Given the description of an element on the screen output the (x, y) to click on. 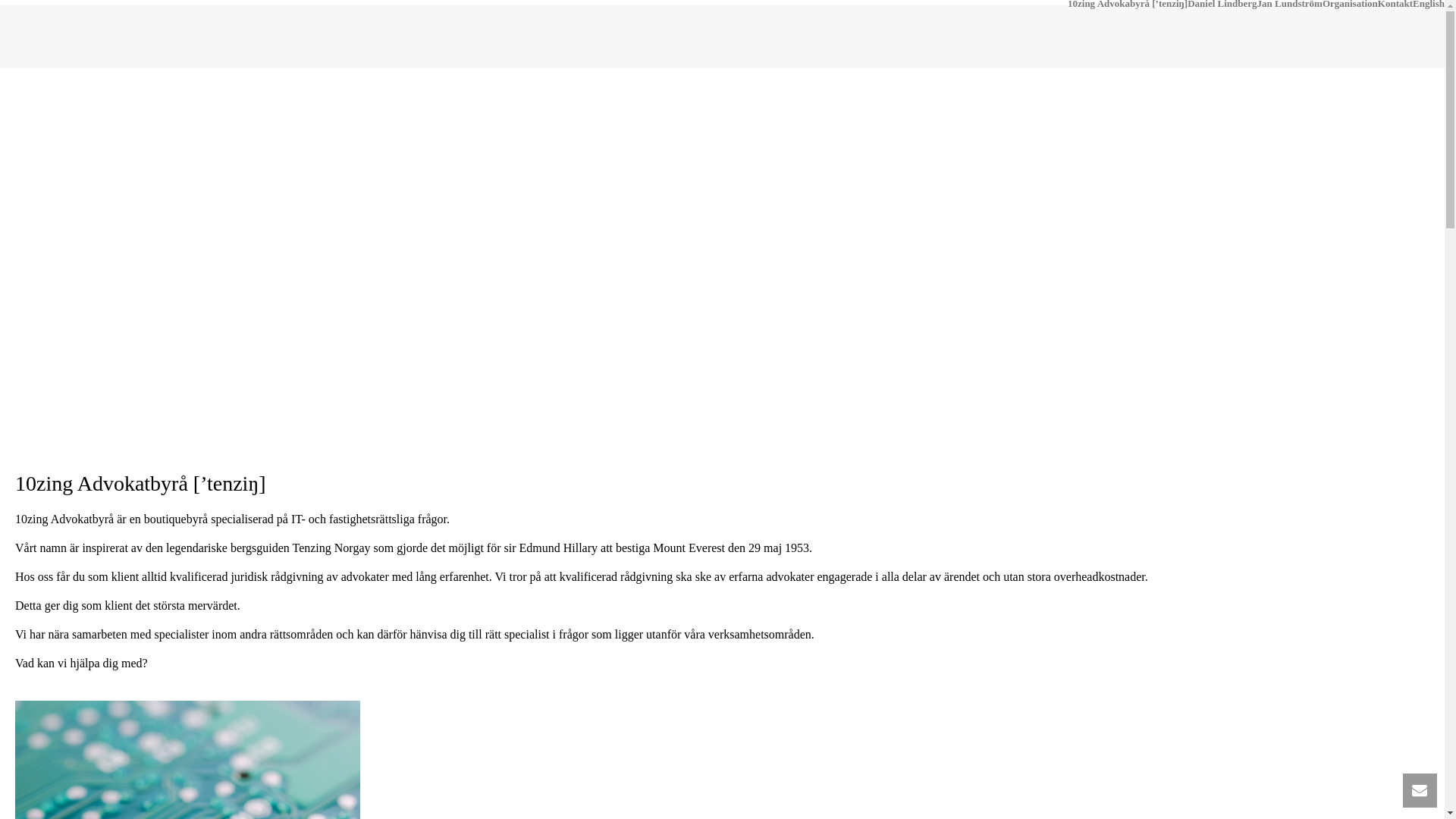
Organisation Element type: text (1349, 3)
Kontakt Element type: text (1394, 3)
Daniel Lindberg Element type: text (1221, 3)
English Element type: text (1428, 3)
